Given the description of an element on the screen output the (x, y) to click on. 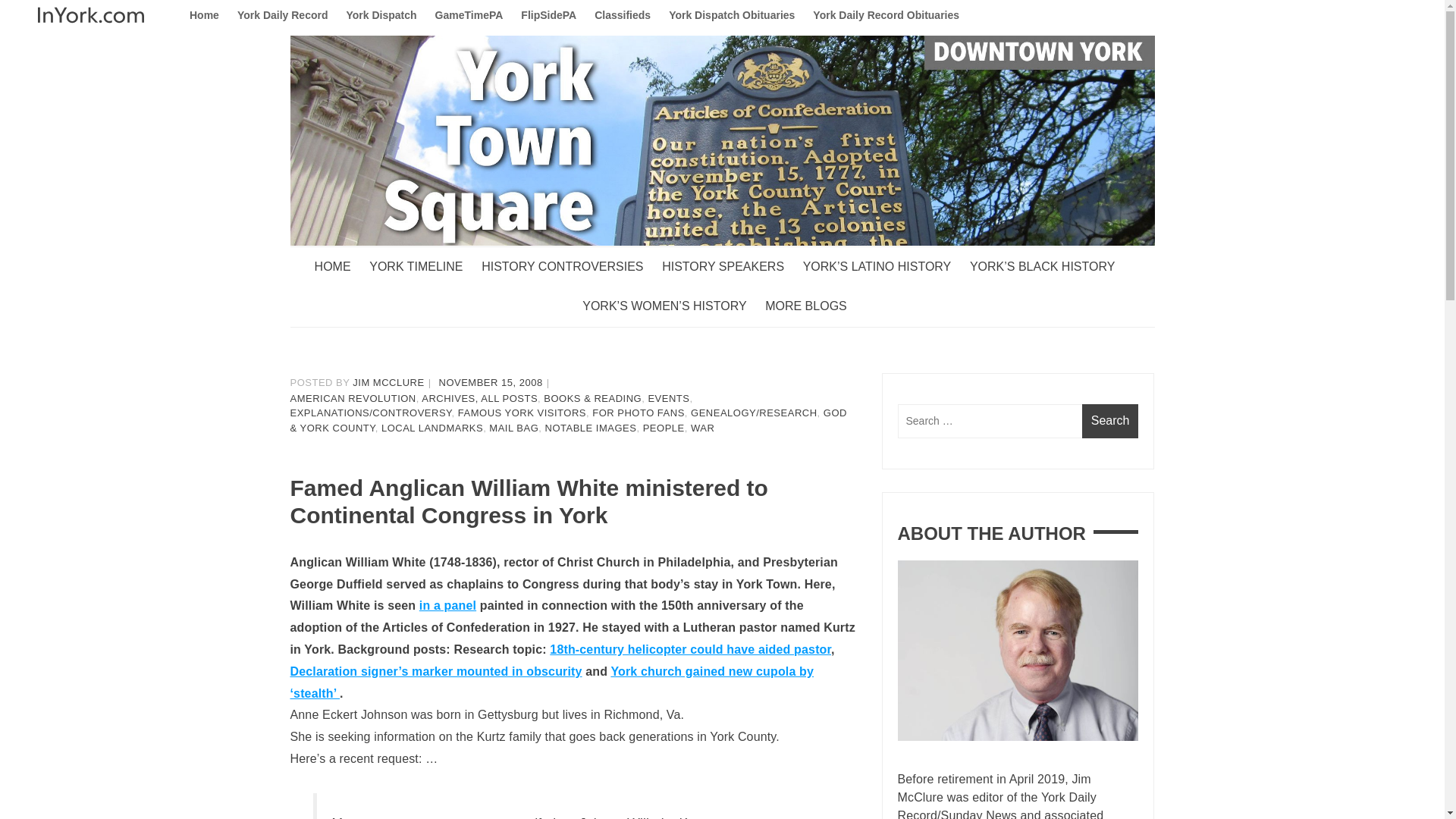
Search (1109, 421)
Search (1109, 421)
MORE BLOGS (813, 305)
EVENTS (667, 398)
in a panel (447, 604)
NOVEMBER 15, 2008 (491, 382)
HOME (340, 266)
LOCAL LANDMARKS (432, 428)
WAR (702, 428)
York Town Square (394, 275)
YORK TIMELINE (423, 266)
HISTORY CONTROVERSIES (569, 266)
AMERICAN REVOLUTION (351, 398)
PEOPLE (663, 428)
NOTABLE IMAGES (590, 428)
